Given the description of an element on the screen output the (x, y) to click on. 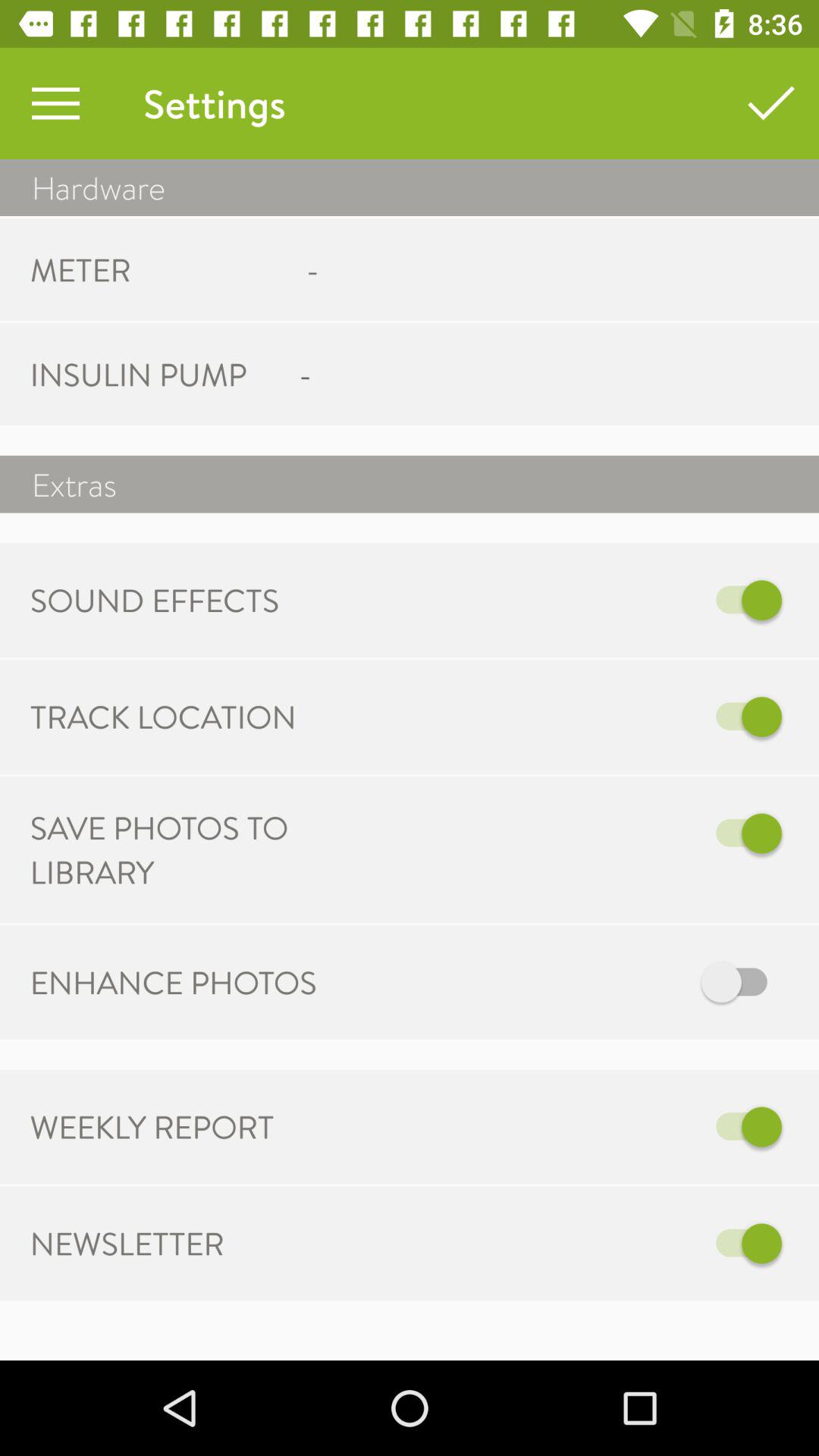
launch the item next to save photos to icon (566, 833)
